Given the description of an element on the screen output the (x, y) to click on. 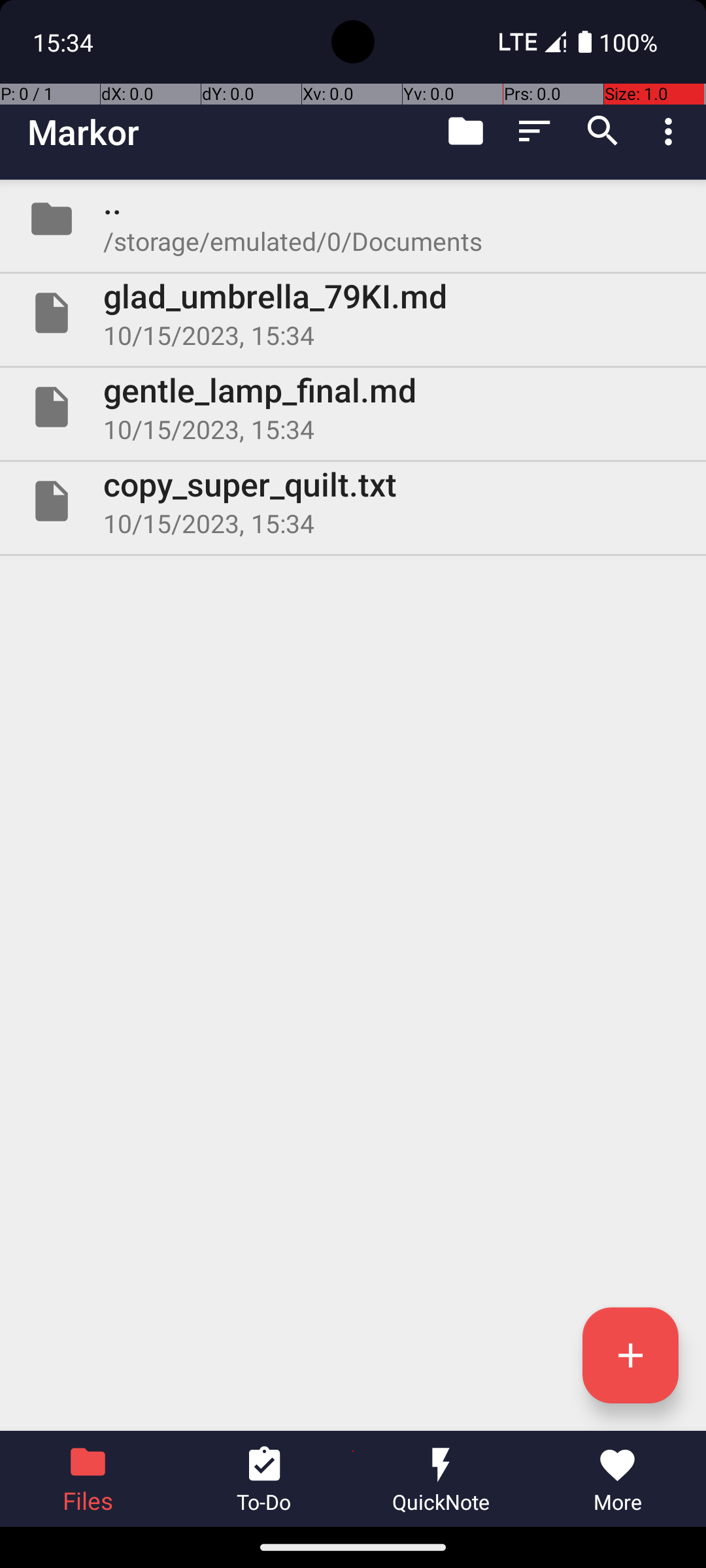
File glad_umbrella_79KI.md  Element type: android.widget.LinearLayout (353, 312)
File gentle_lamp_final.md  Element type: android.widget.LinearLayout (353, 406)
File copy_super_quilt.txt  Element type: android.widget.LinearLayout (353, 500)
